Given the description of an element on the screen output the (x, y) to click on. 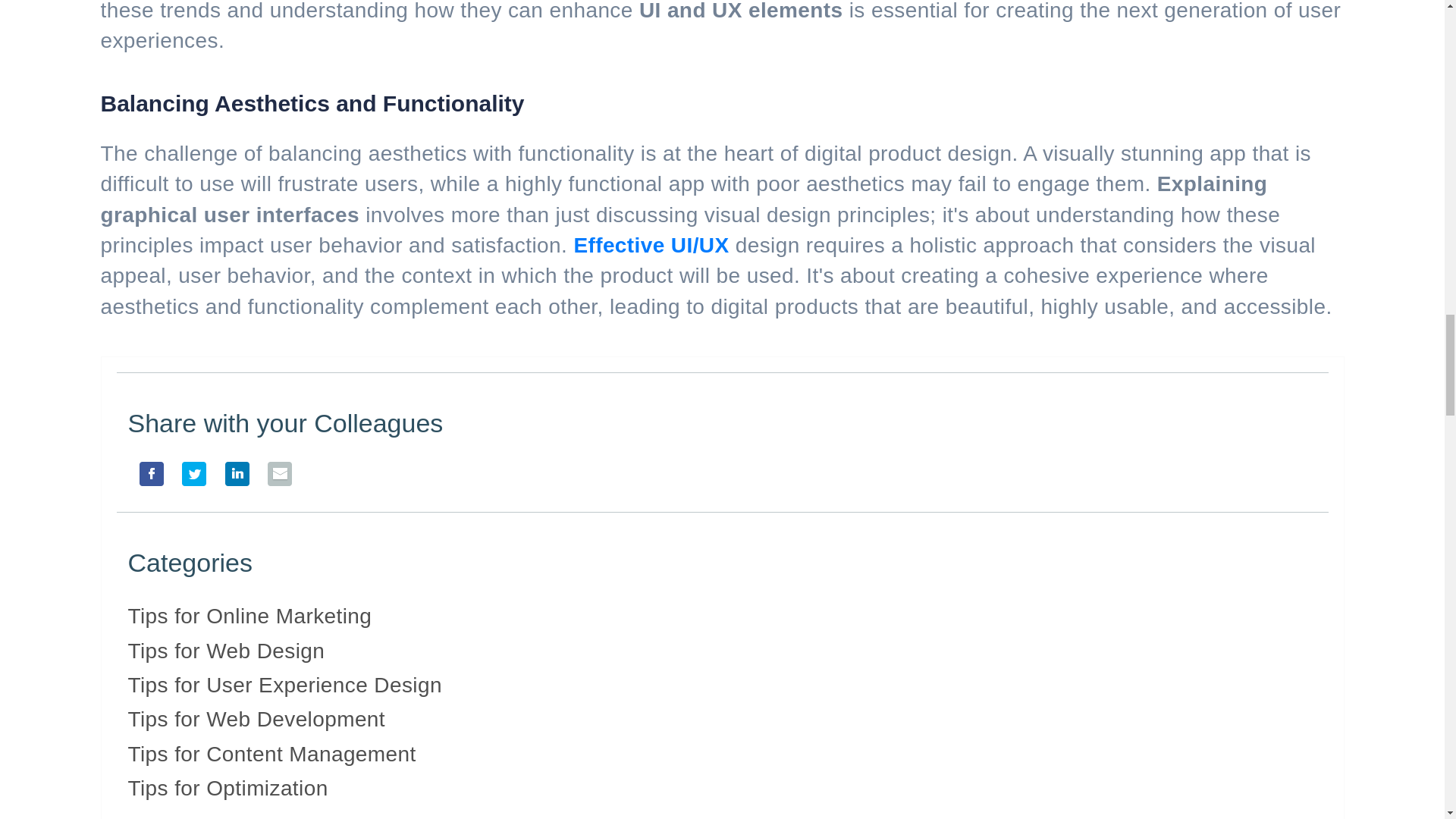
Tips for Web Development (256, 719)
Tips for Web Design (226, 650)
Email (275, 479)
Tips for Online Marketing (249, 616)
Facebook (146, 479)
Tips for User Experience Design (284, 684)
LinkedIn (231, 479)
Twitter (189, 479)
Tips for Content Management (271, 753)
Tips for Optimization (227, 788)
